Given the description of an element on the screen output the (x, y) to click on. 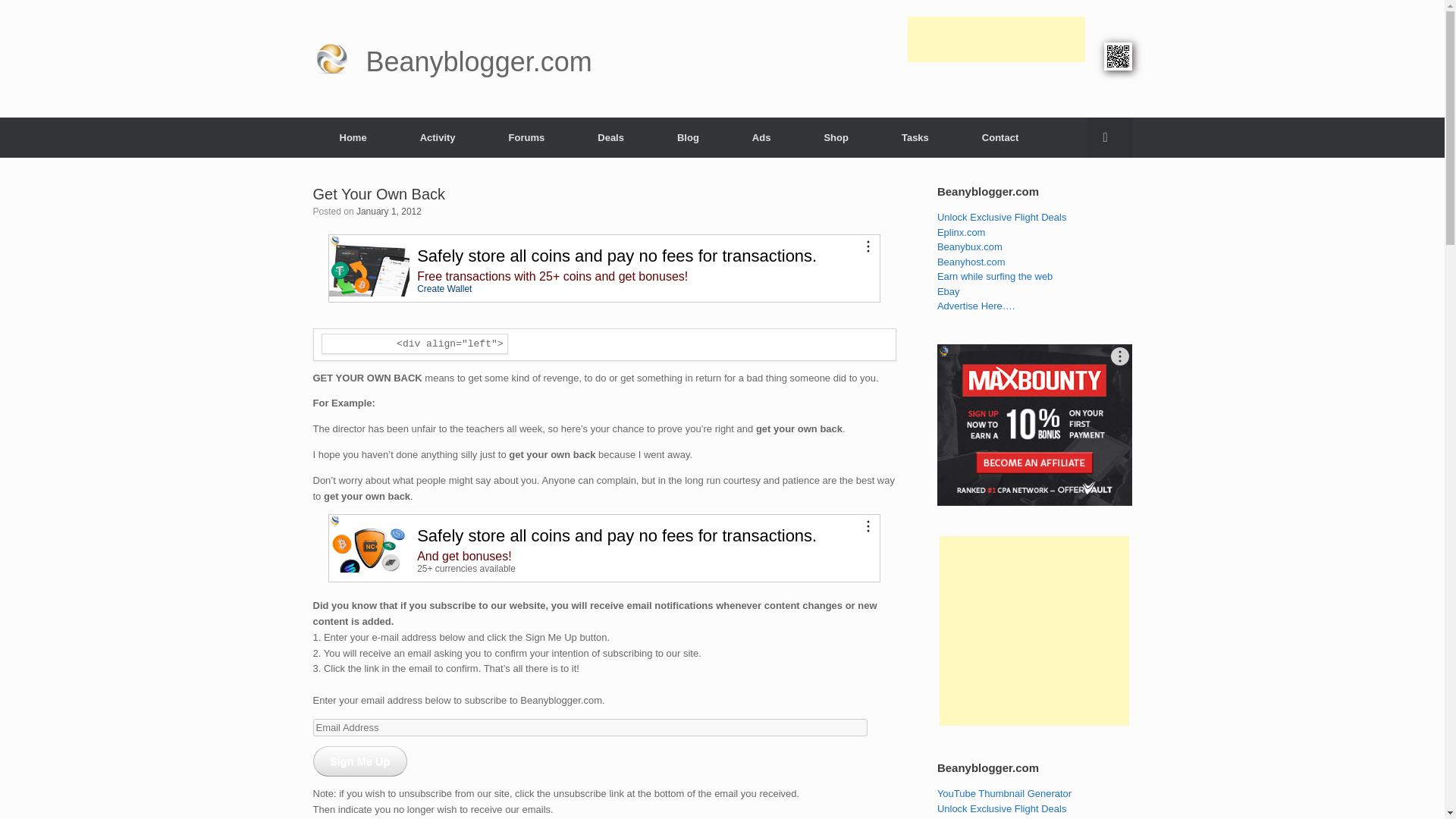
January 1, 2012 (389, 211)
Blog (687, 137)
Ads (761, 137)
Contact (1000, 137)
Beanyblogger.com (452, 58)
Shop (835, 137)
Tasks (915, 137)
Deals (610, 137)
Activity (437, 137)
7:27 AM (389, 211)
Home (353, 137)
Advertisement (995, 103)
Forums (526, 137)
Beanyblogger.com (452, 58)
Sign Me Up (360, 761)
